Given the description of an element on the screen output the (x, y) to click on. 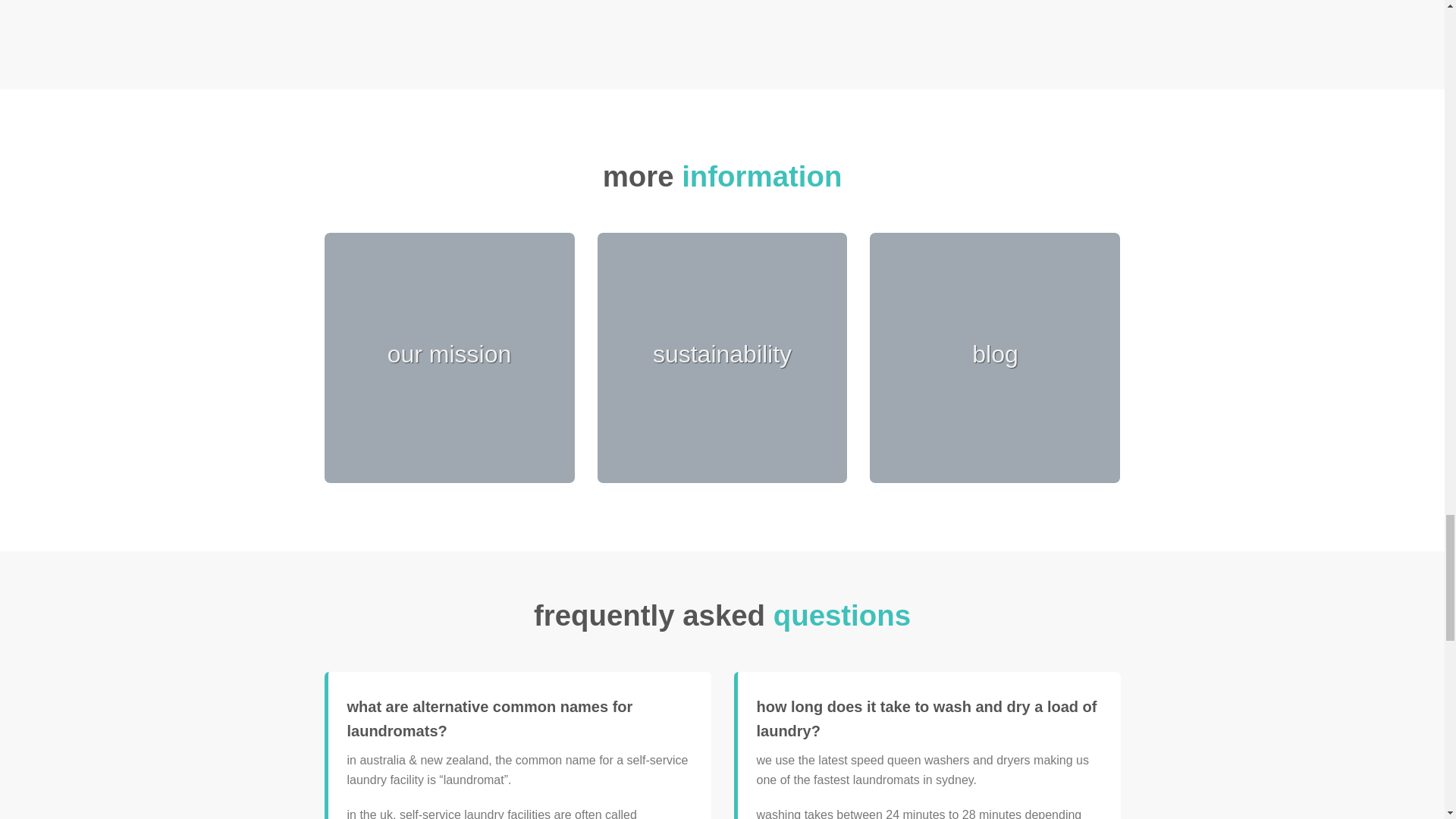
our mission (449, 355)
sustainability (722, 355)
